Given the description of an element on the screen output the (x, y) to click on. 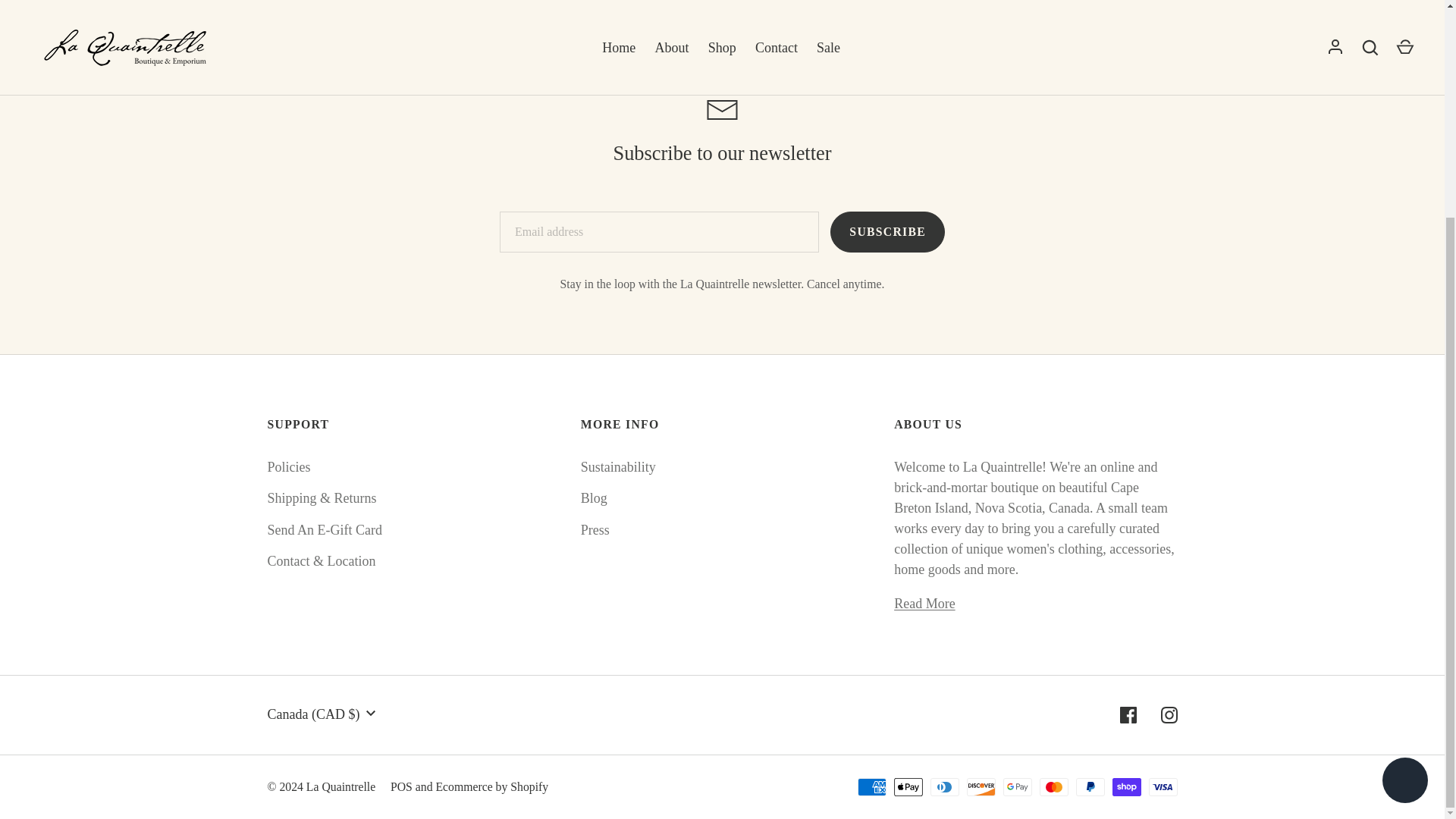
Email (722, 109)
Down (370, 713)
Shopify online store chat (1404, 495)
About Us (924, 603)
